Given the description of an element on the screen output the (x, y) to click on. 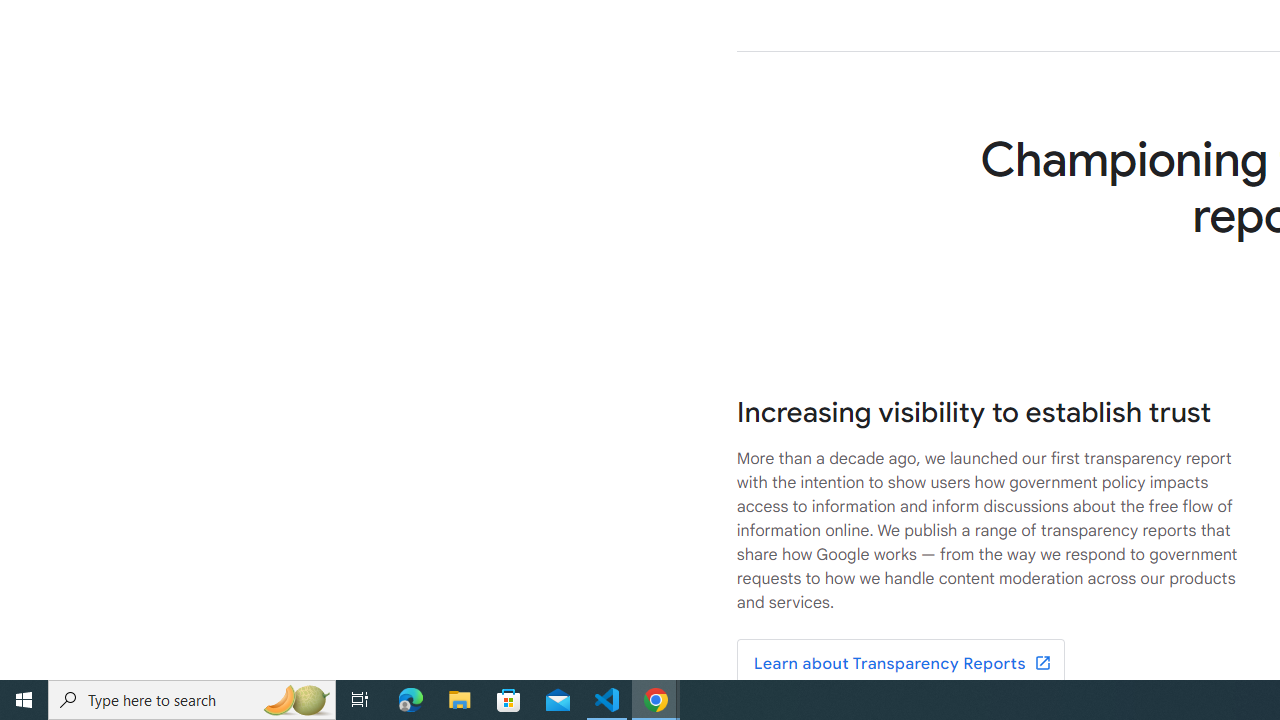
Go to Transparency Report About web page (900, 664)
